Given the description of an element on the screen output the (x, y) to click on. 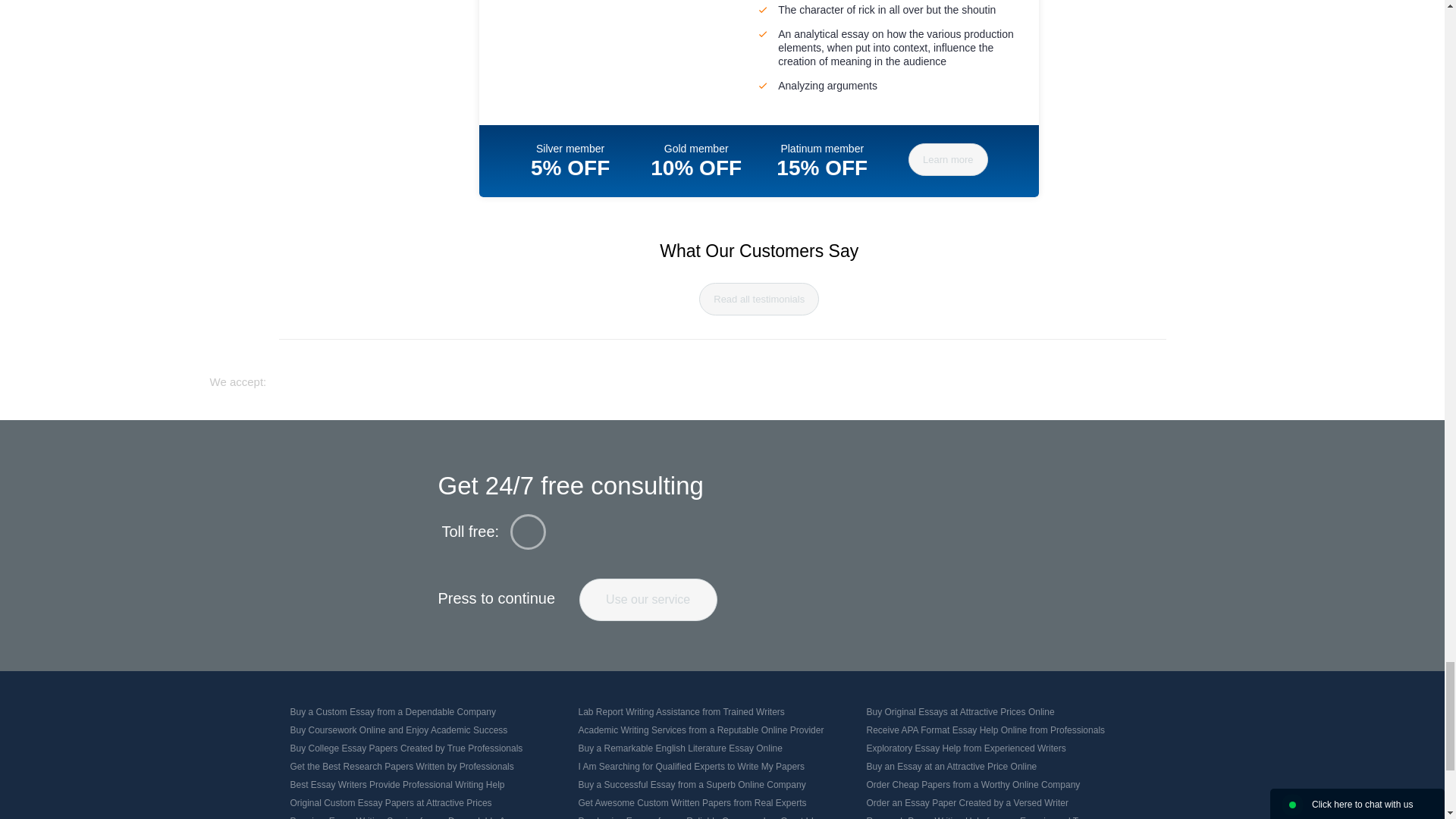
Credit and debit cards by MasterCard (695, 375)
Credit cards by American Express (783, 374)
Credit and debit cards by Visa (607, 375)
Apple pay (842, 375)
